Given the description of an element on the screen output the (x, y) to click on. 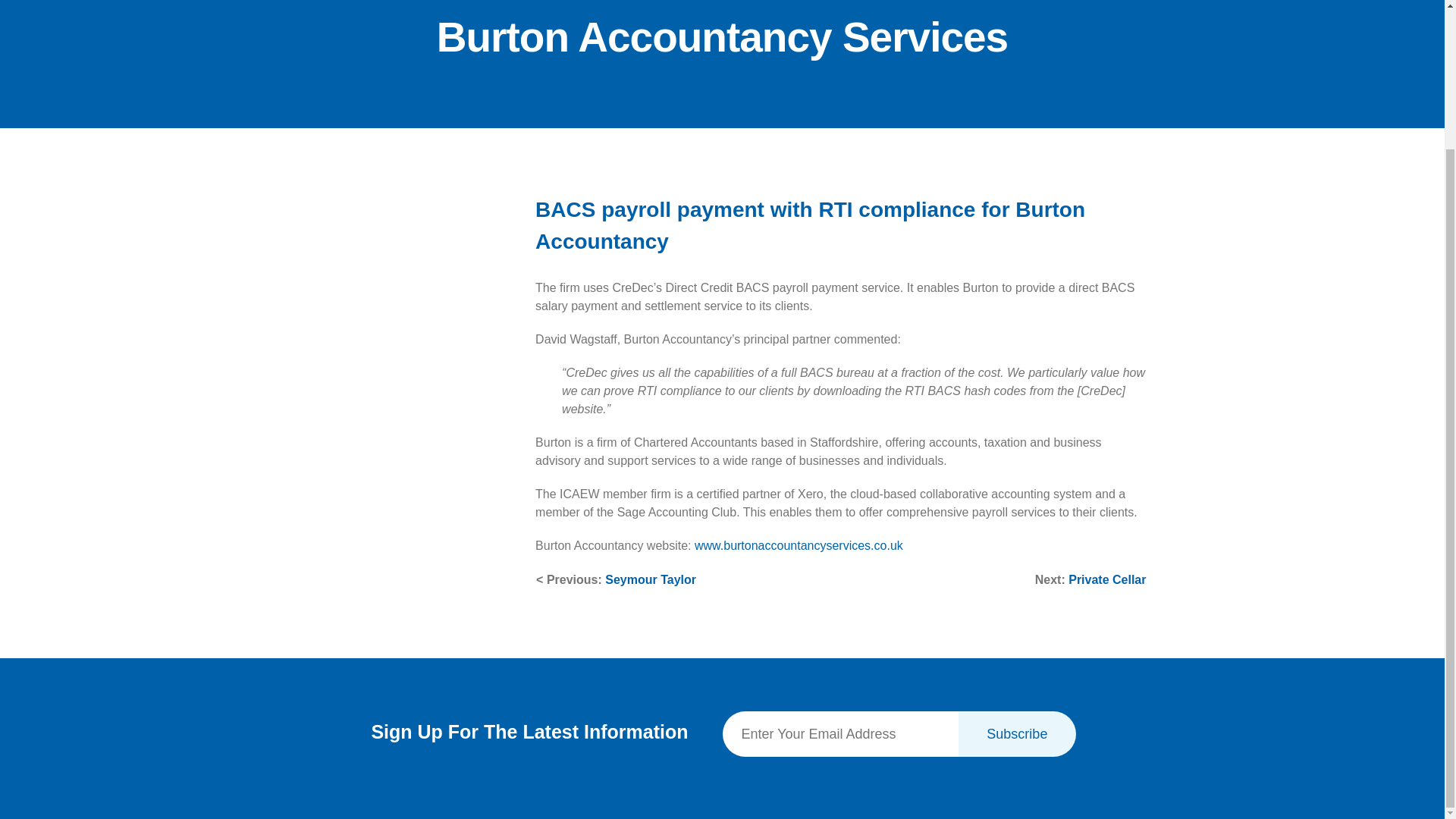
Subscribe (1017, 733)
www.burtonaccountancyservices.co.uk (798, 545)
Private Cellar (1106, 579)
Burton Accountancy Services logo (399, 216)
Seymour Taylor (650, 579)
